Given the description of an element on the screen output the (x, y) to click on. 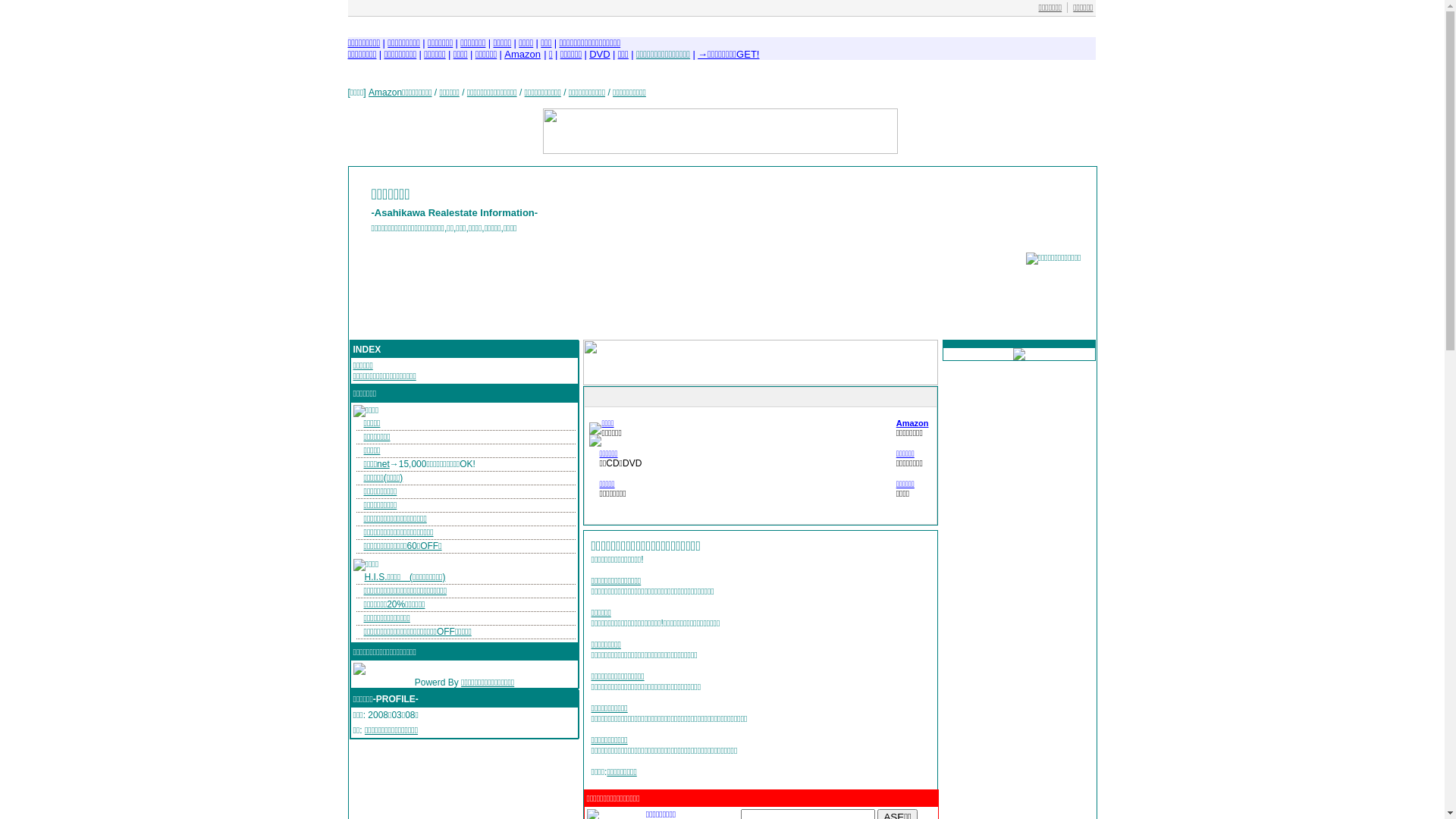
Amazon Element type: text (522, 53)
DVD Element type: text (599, 53)
Amazon Element type: text (912, 422)
